Given the description of an element on the screen output the (x, y) to click on. 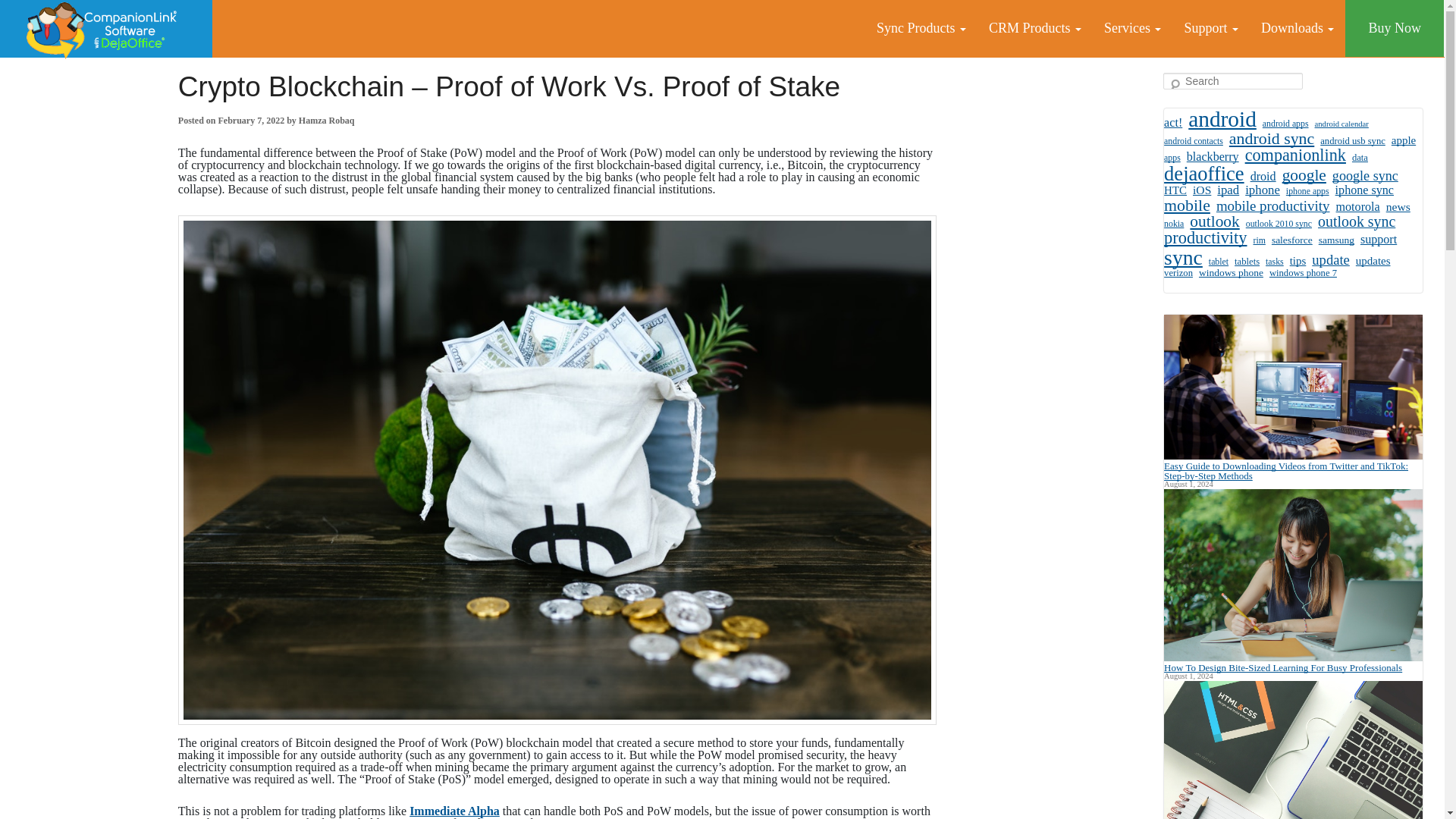
Sync Products (920, 28)
Services (1132, 28)
CRM Products (1034, 28)
CompanionLink Home (106, 28)
Downloads (1297, 28)
Support (1210, 28)
